Given the description of an element on the screen output the (x, y) to click on. 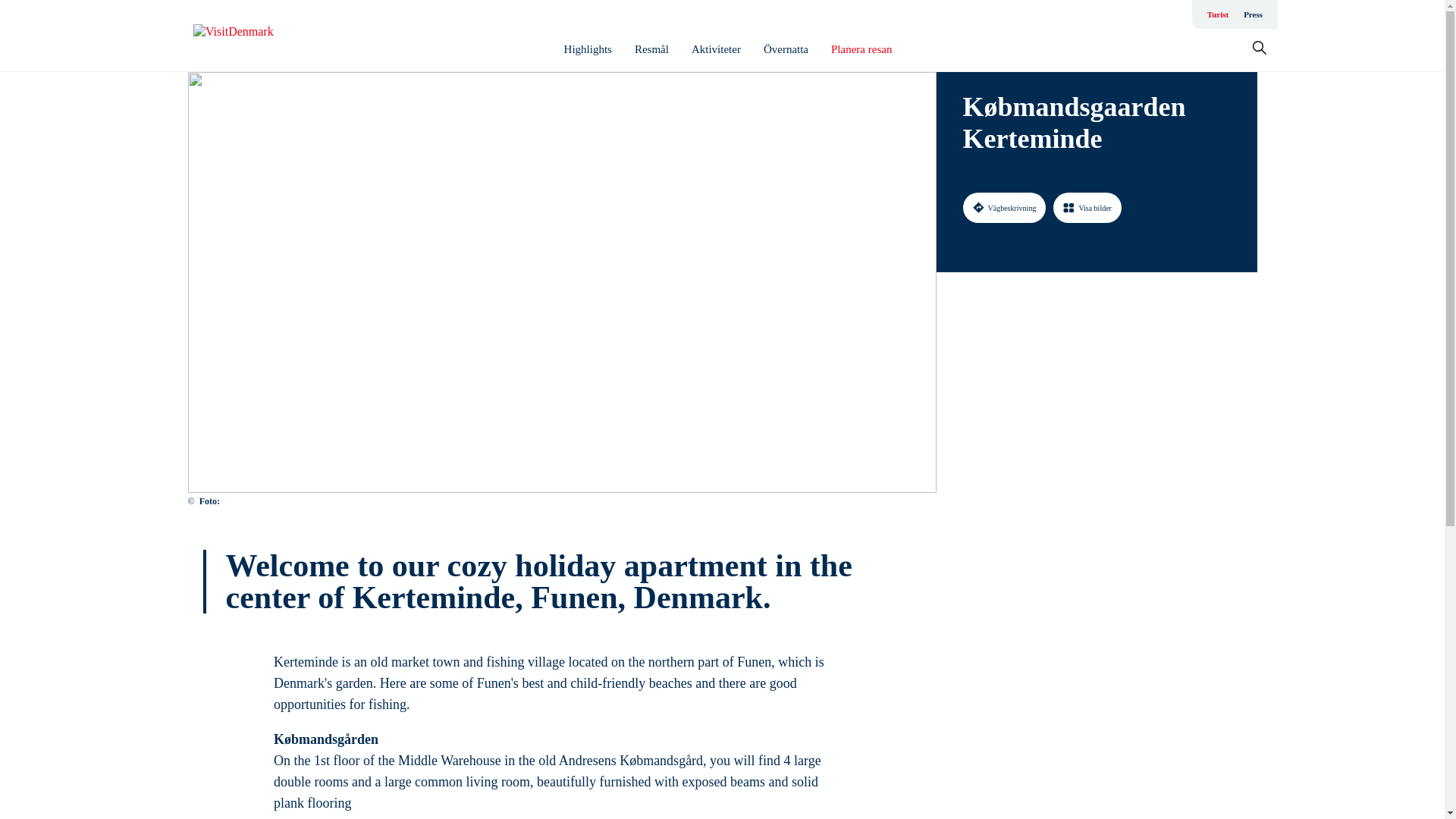
Visa bilder (1086, 207)
Planera resan (861, 49)
Go to homepage (253, 35)
Highlights (587, 49)
Press (1252, 14)
Aktiviteter (716, 49)
Turist (1217, 14)
